Given the description of an element on the screen output the (x, y) to click on. 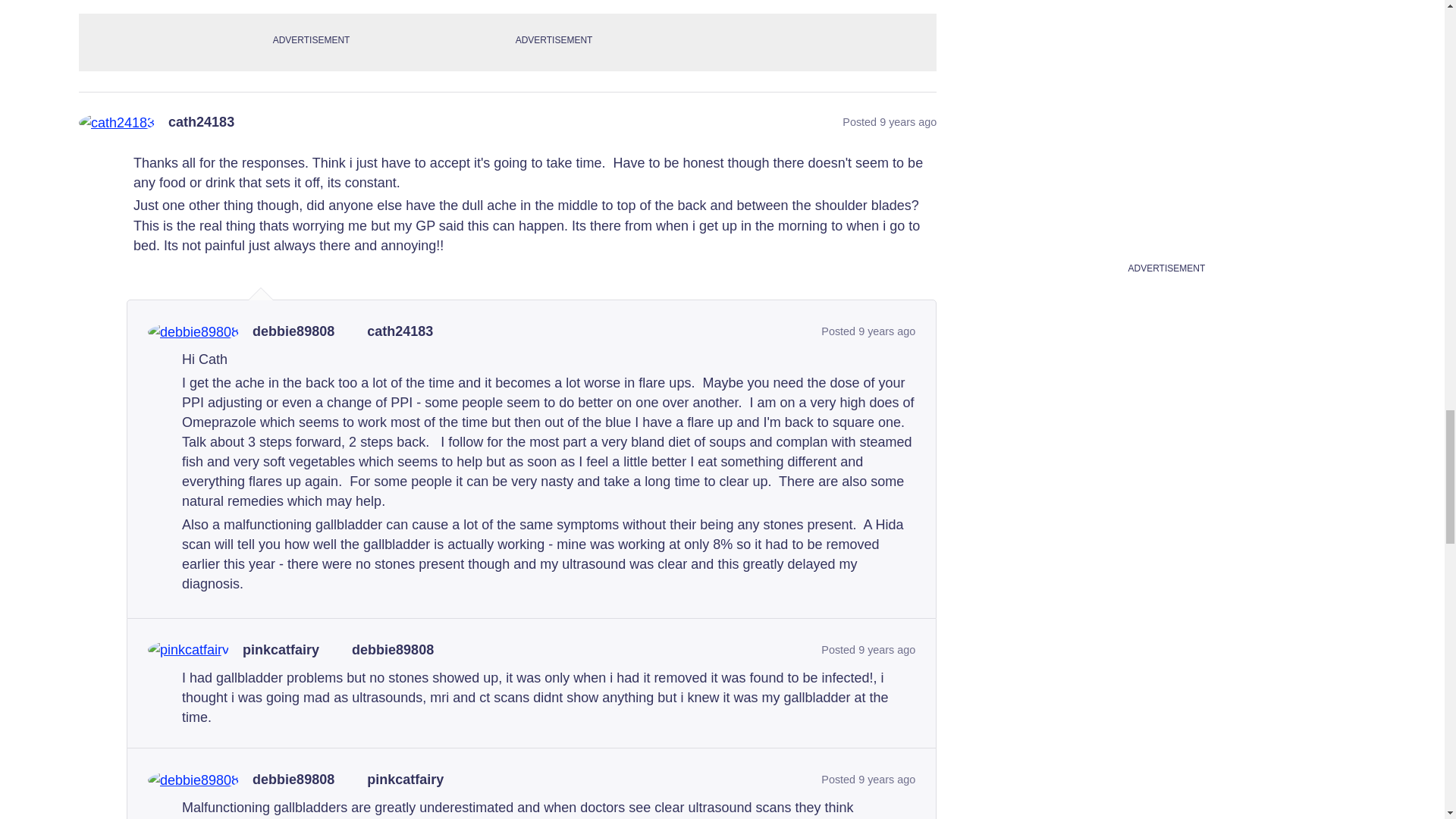
View debbie89808's profile (292, 331)
View debbie89808's profile (292, 780)
cath24183 (201, 122)
View cath24183's profile (201, 122)
View pinkcatfairy's profile (280, 650)
